Given the description of an element on the screen output the (x, y) to click on. 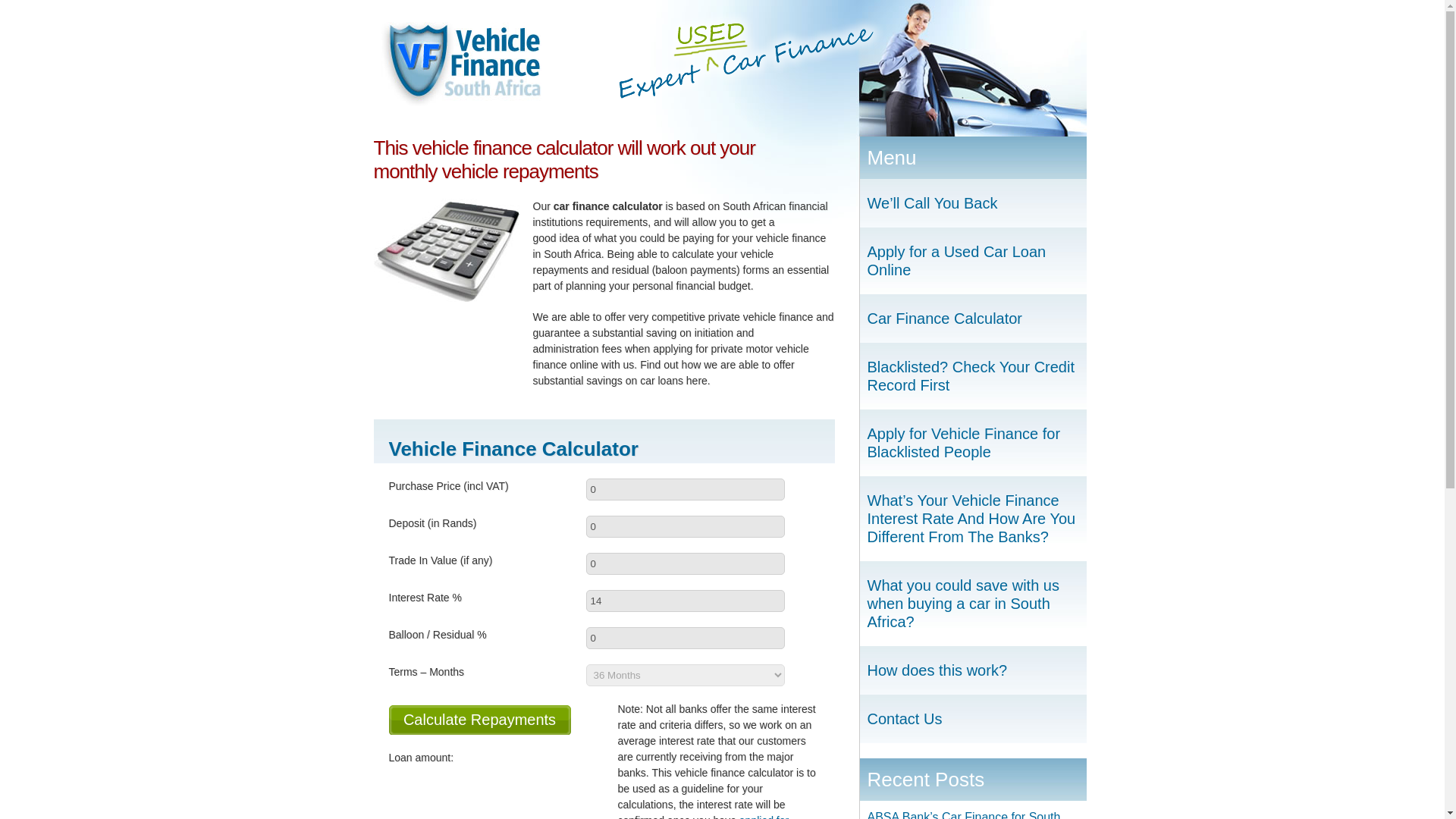
VehicleFinanceSouthAfrica.co.za (460, 64)
How does this work? (973, 670)
0 (684, 638)
Apply for Vehicle Finance for Blacklisted People (973, 442)
0 (684, 526)
Apply for a Used Car Loan Online (973, 260)
0 (684, 489)
applied for private motor vehicle finance online (703, 816)
Get a much better deal! (460, 64)
Calculate Repayments (479, 719)
0 (684, 563)
Car Finance Calculator (973, 318)
Contact Us (973, 718)
Blacklisted? Check Your Credit Record First (973, 376)
